Given the description of an element on the screen output the (x, y) to click on. 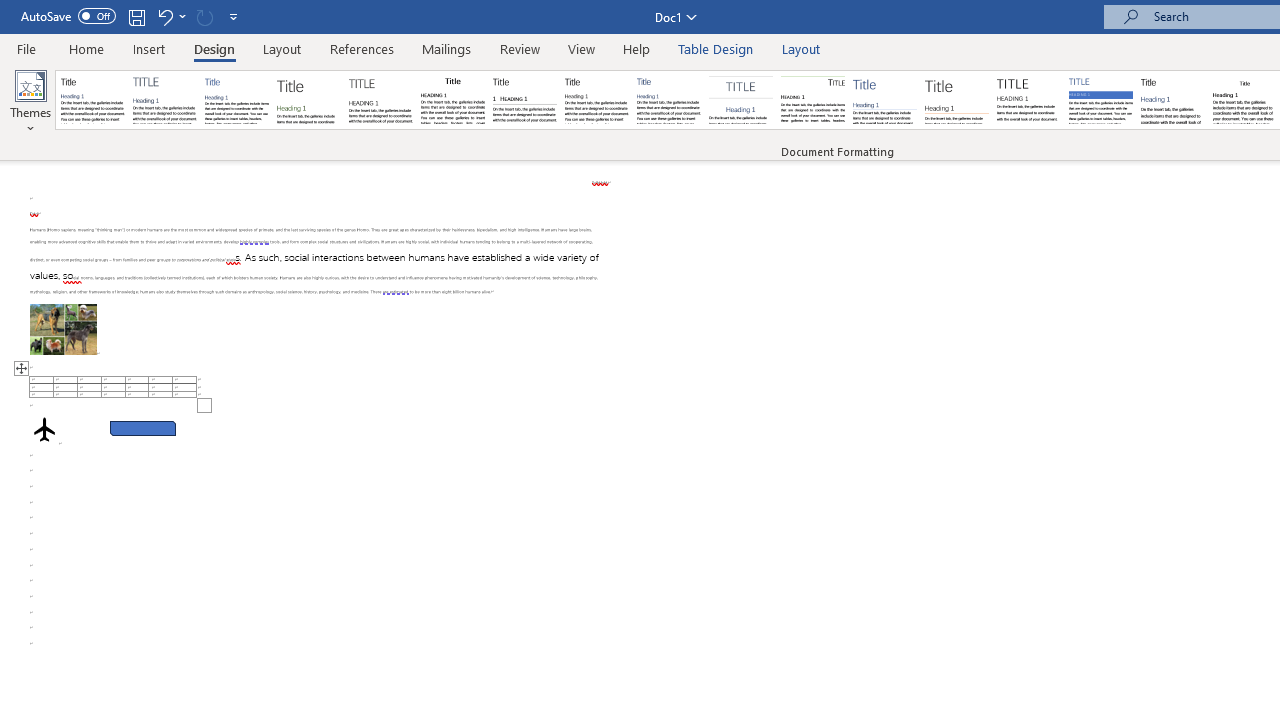
Lines (Stylish) (957, 100)
Casual (669, 100)
Minimalist (1028, 100)
Lines (Distinctive) (812, 100)
Centered (740, 100)
Word (1172, 100)
Basic (Simple) (236, 100)
Document (93, 100)
Basic (Stylish) (308, 100)
Black & White (Classic) (452, 100)
